Given the description of an element on the screen output the (x, y) to click on. 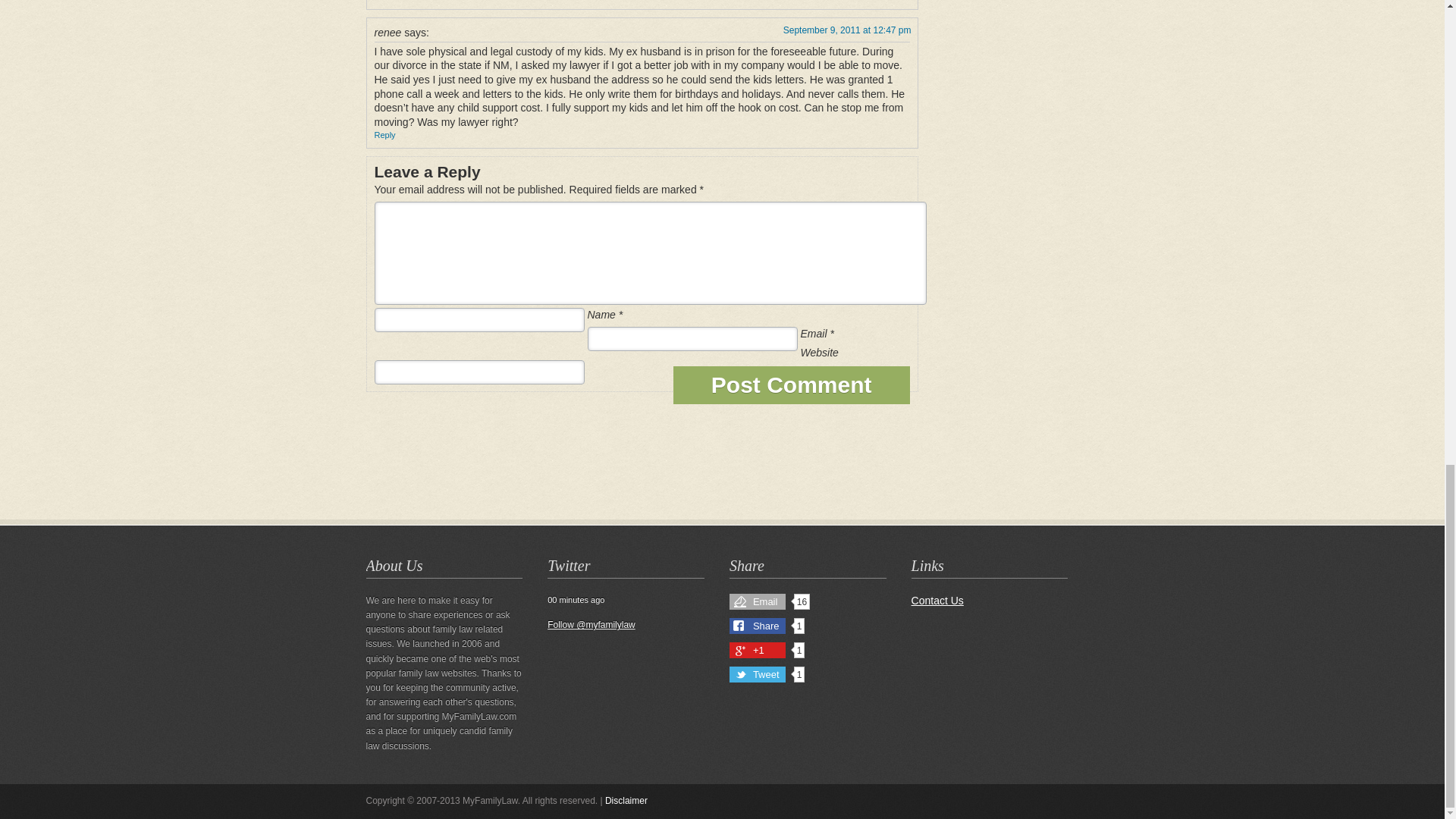
Disclaimer (626, 800)
Tweet 1 (767, 674)
Post Comment (791, 385)
Post Comment (791, 385)
Reply (385, 134)
Contact Us (937, 600)
Share 1 (767, 625)
September 9, 2011 at 12:47 pm (847, 30)
Email 16 (769, 601)
